Given the description of an element on the screen output the (x, y) to click on. 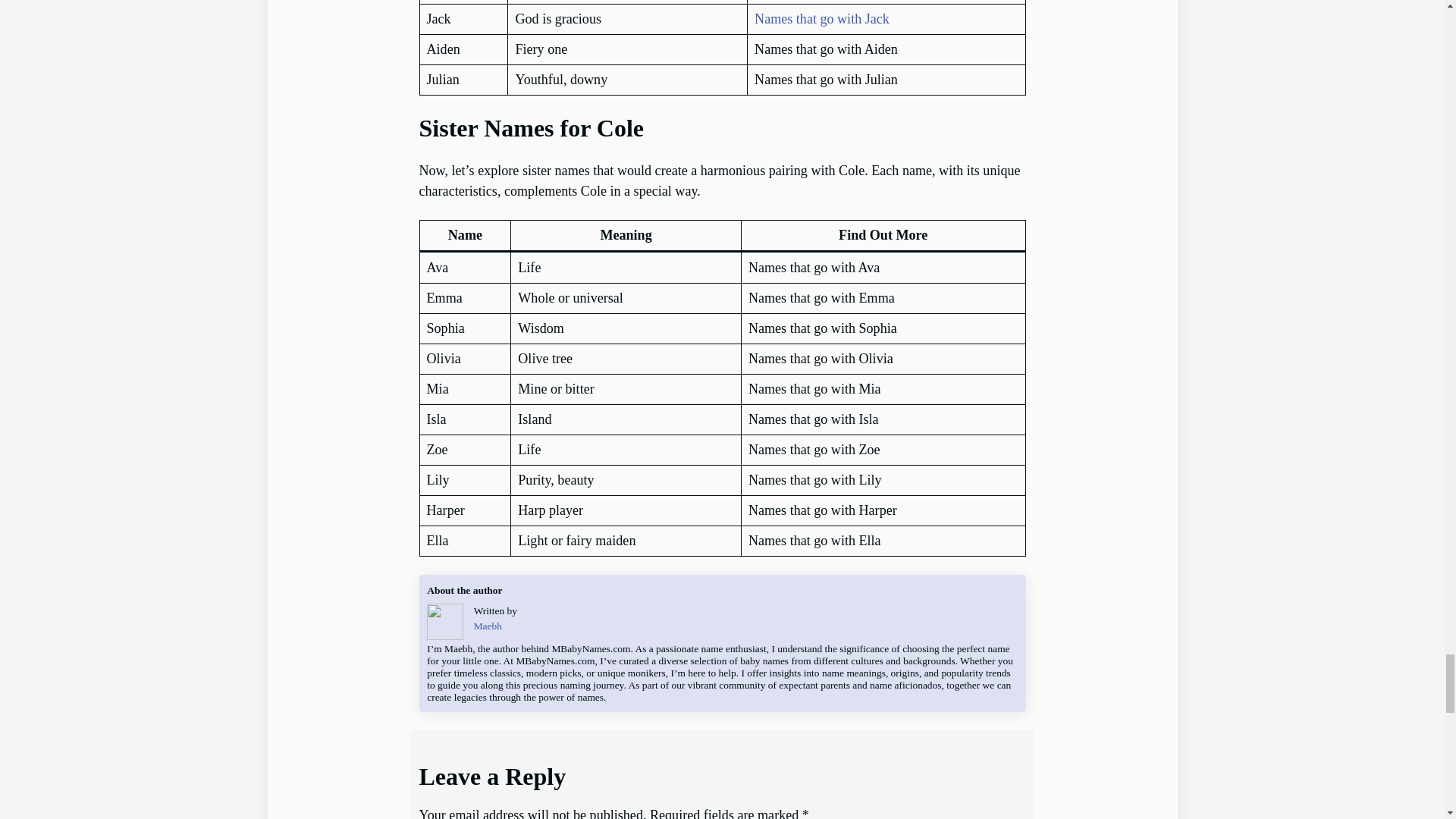
Names that go with Jack (821, 18)
Names that go with Jack (821, 18)
Maebh (488, 625)
